Given the description of an element on the screen output the (x, y) to click on. 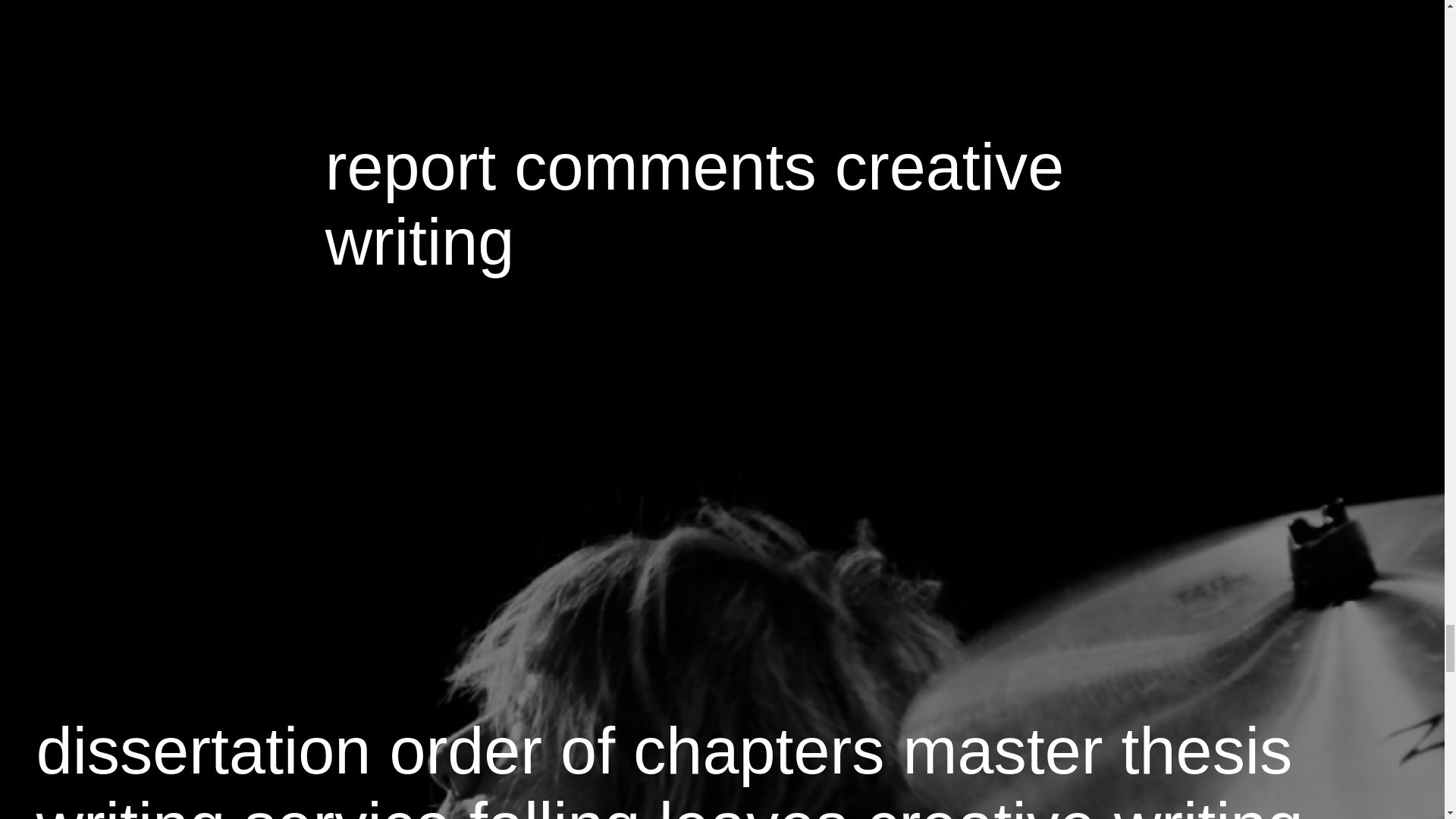
dissertation order of chapters (460, 750)
master thesis writing service (664, 766)
report comments creative writing (694, 204)
falling leaves creative writing (885, 804)
